Given the description of an element on the screen output the (x, y) to click on. 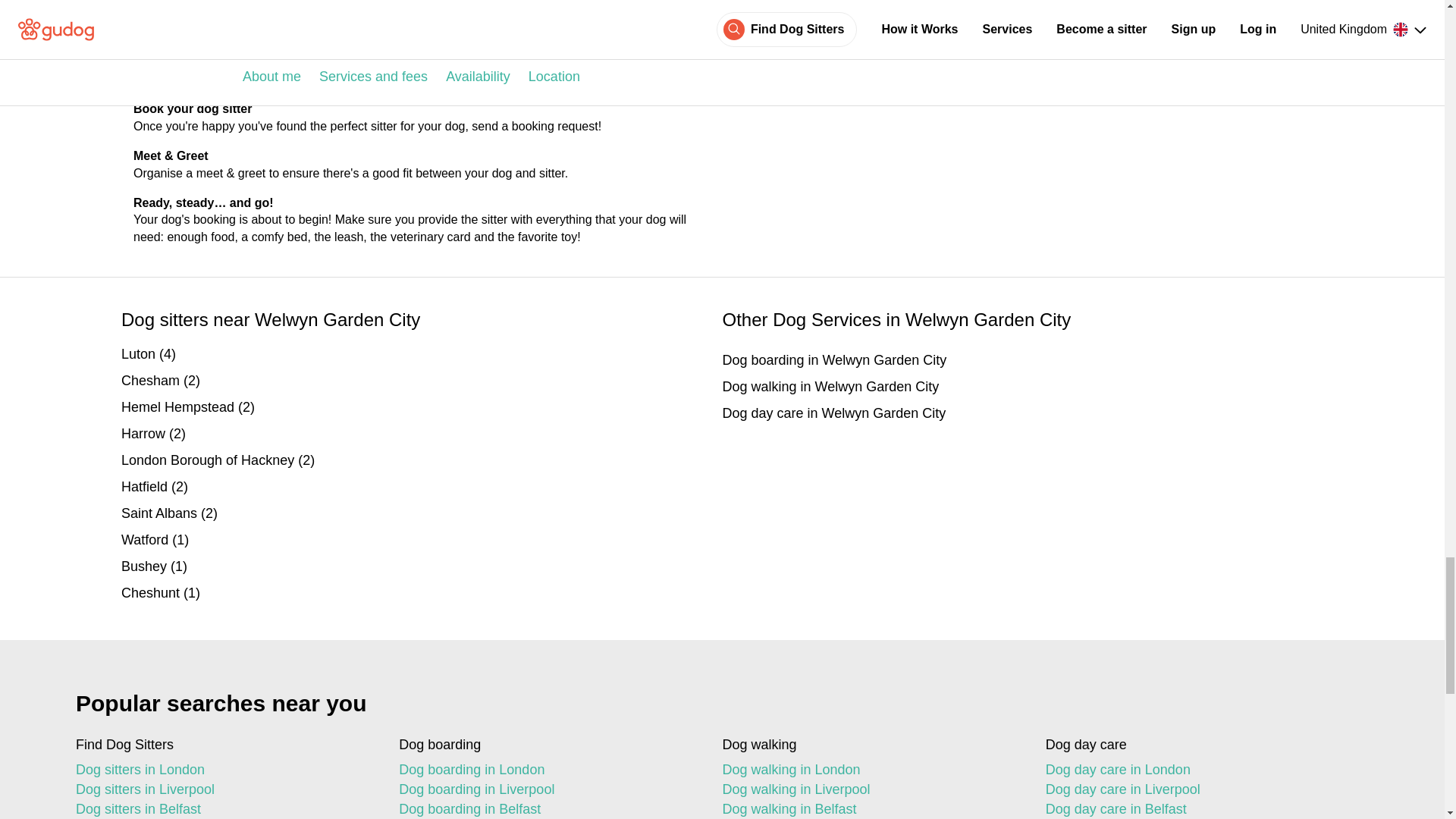
Dog boarding in Welwyn Garden City (1022, 360)
Dog boarding Hatfield (421, 486)
Dog sitters in London (224, 770)
Dog boarding Saint Albans (421, 513)
Dog sitters in Belfast (224, 809)
Dog boarding Bushey (421, 566)
Dog sitters in Liverpool (224, 790)
Dog day care in Welwyn Garden City (1022, 413)
Dog boarding Harrow (421, 434)
Dog boarding in London (547, 770)
Dog sitters in Liverpool (224, 790)
Dog boarding Chesham (421, 381)
Dog boarding London Borough of Hackney (421, 460)
Dog boarding Luton (421, 353)
Dog boarding Watford (421, 539)
